Given the description of an element on the screen output the (x, y) to click on. 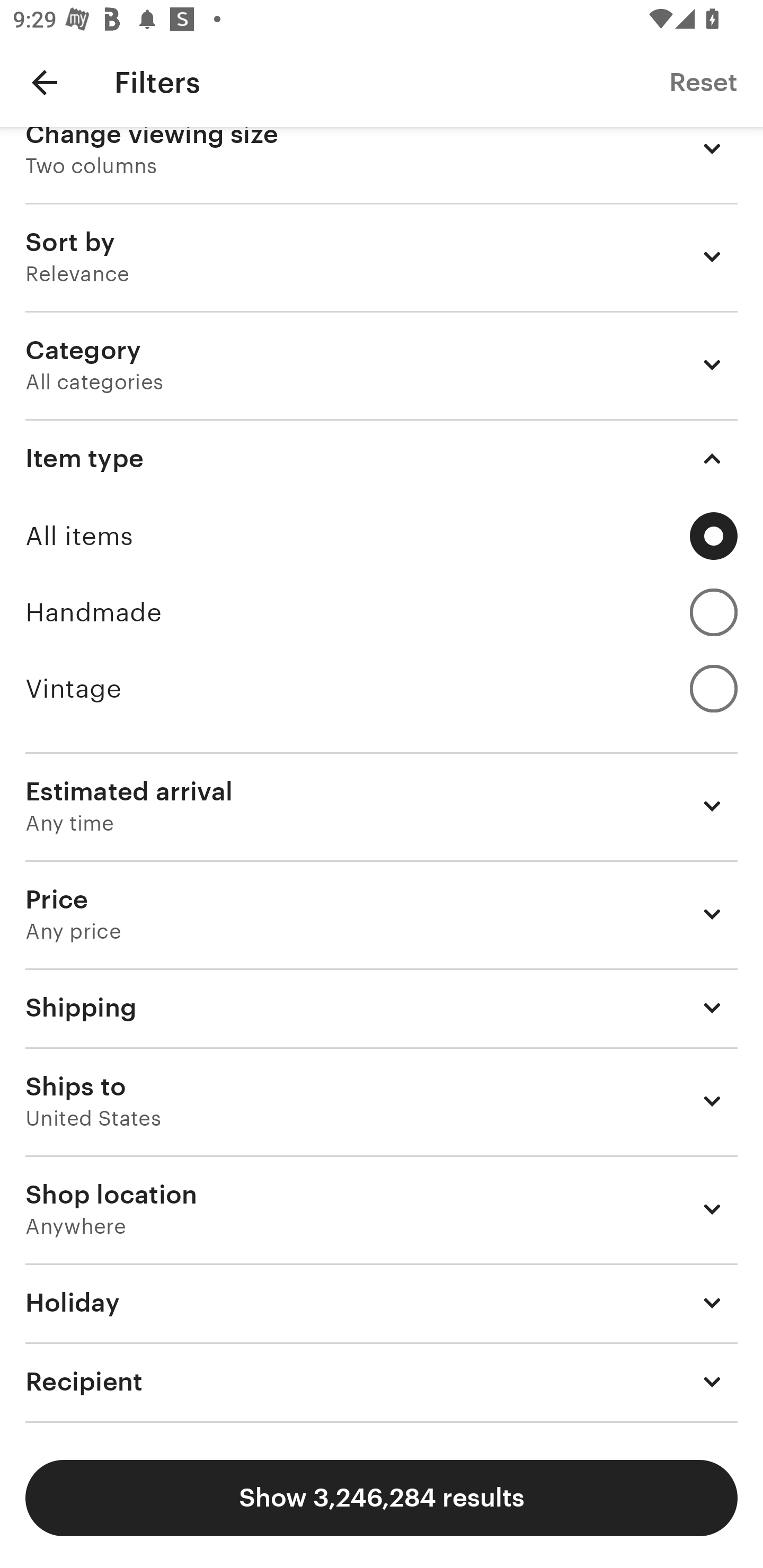
Navigate up (44, 82)
Reset (703, 81)
Change viewing size Two columns (381, 164)
Sort by Relevance (381, 256)
Category All categories (381, 364)
Item type (381, 458)
All items (381, 535)
Handmade (381, 611)
Vintage (381, 688)
Estimated arrival Any time (381, 806)
Price Any price (381, 914)
Shipping (381, 1008)
Ships to United States (381, 1101)
Shop location Anywhere (381, 1209)
Holiday (381, 1302)
Recipient (381, 1381)
Show 3,246,284 results Show results (381, 1497)
